Given the description of an element on the screen output the (x, y) to click on. 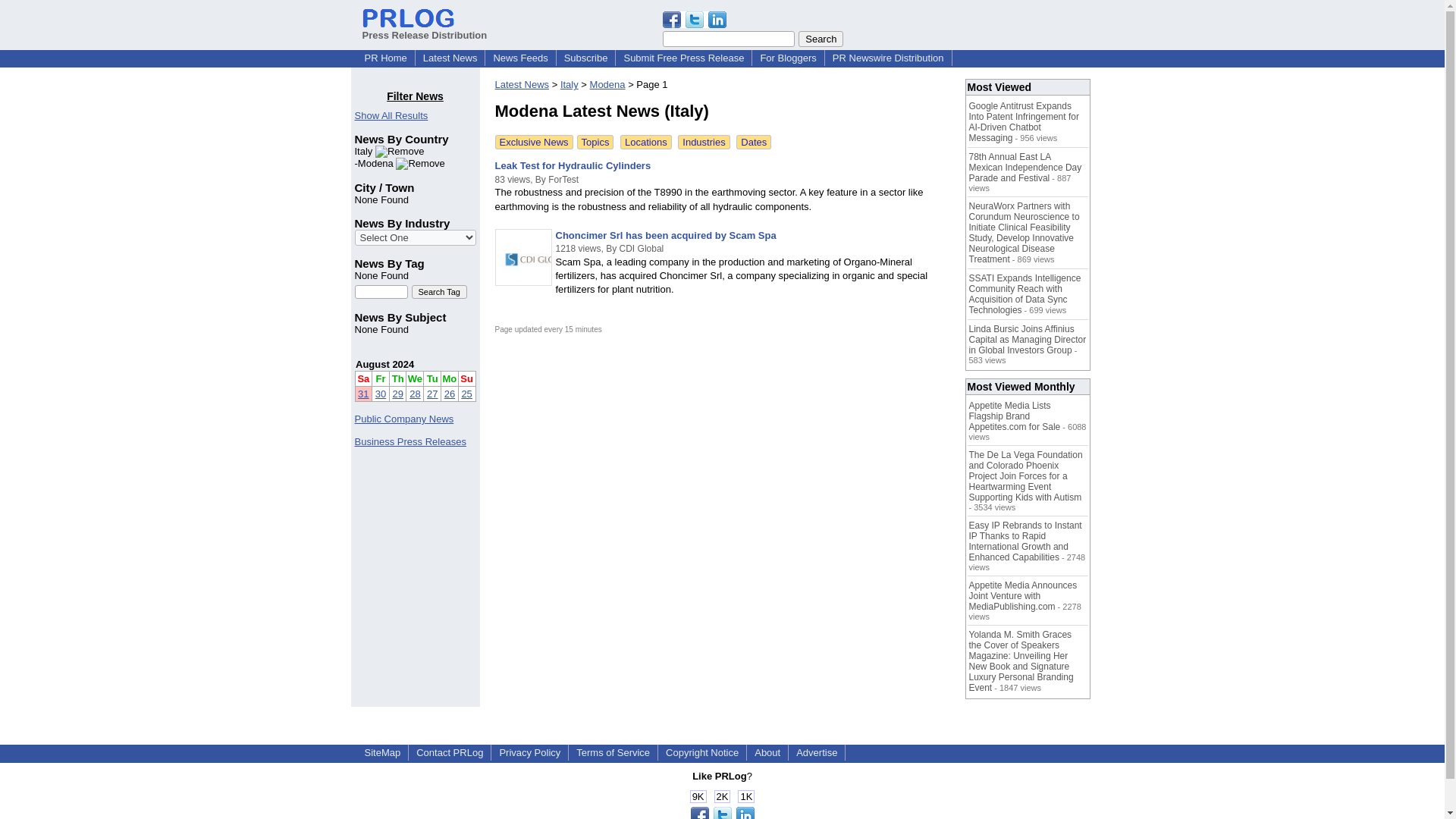
Industries (703, 142)
News Feeds (519, 57)
Locations (645, 142)
31 (363, 393)
August 2024 (384, 364)
29 (397, 393)
PR Newswire Distribution (888, 57)
Dates (753, 142)
